Given the description of an element on the screen output the (x, y) to click on. 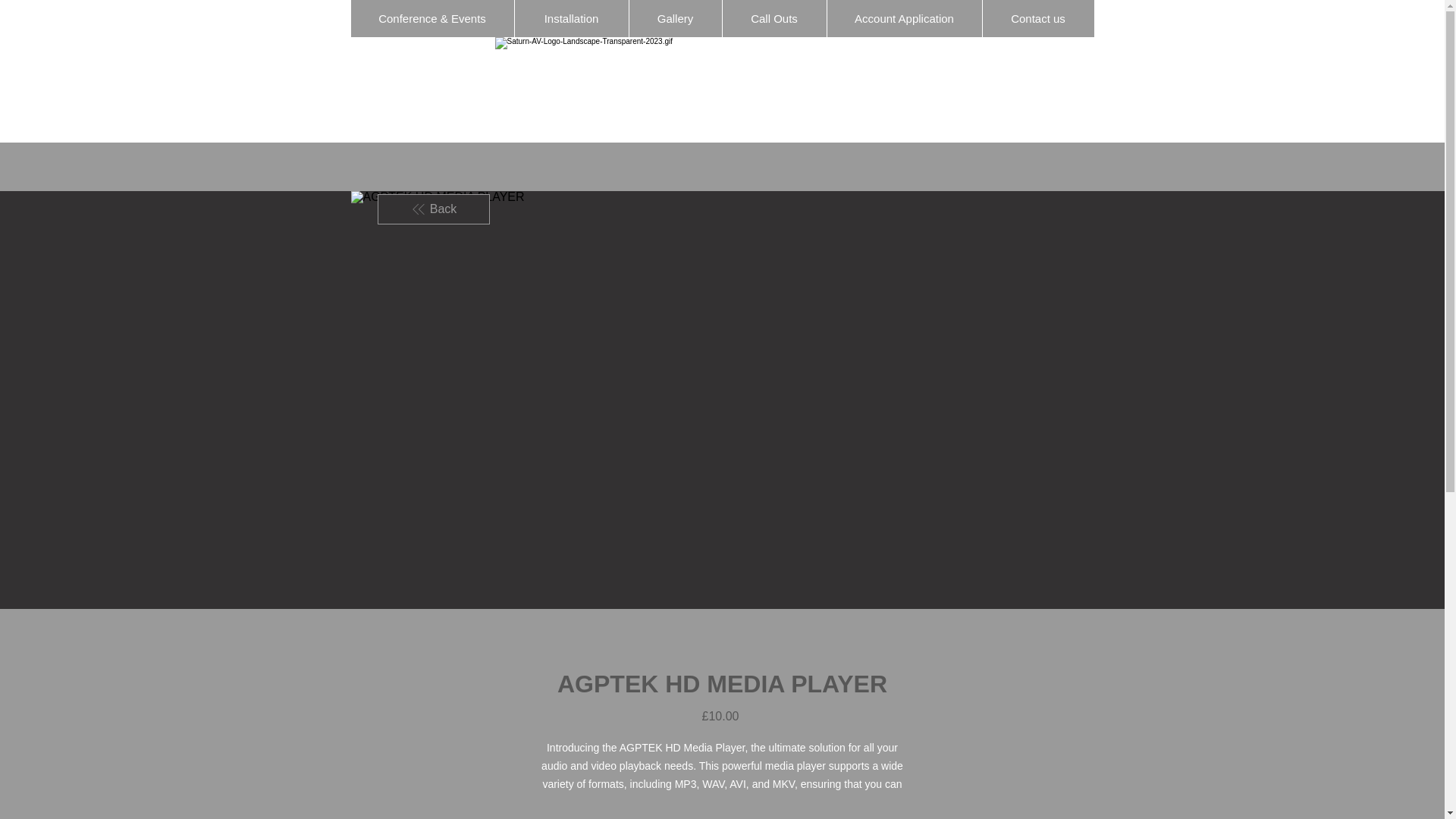
Call Outs (774, 18)
Account Application (904, 18)
Back (433, 209)
Installation (570, 18)
Contact us (1037, 18)
Gallery (673, 18)
